Given the description of an element on the screen output the (x, y) to click on. 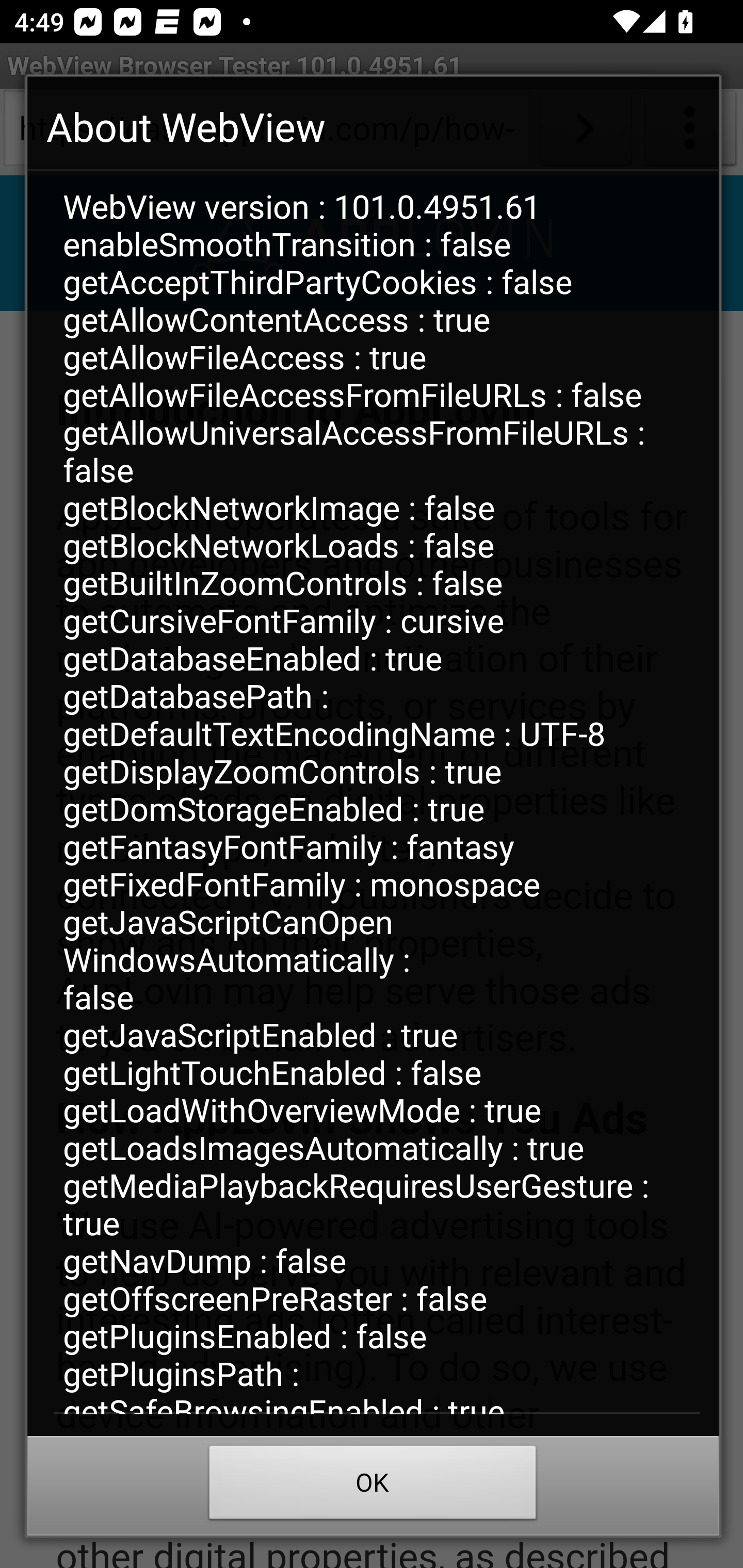
OK (372, 1486)
